Given the description of an element on the screen output the (x, y) to click on. 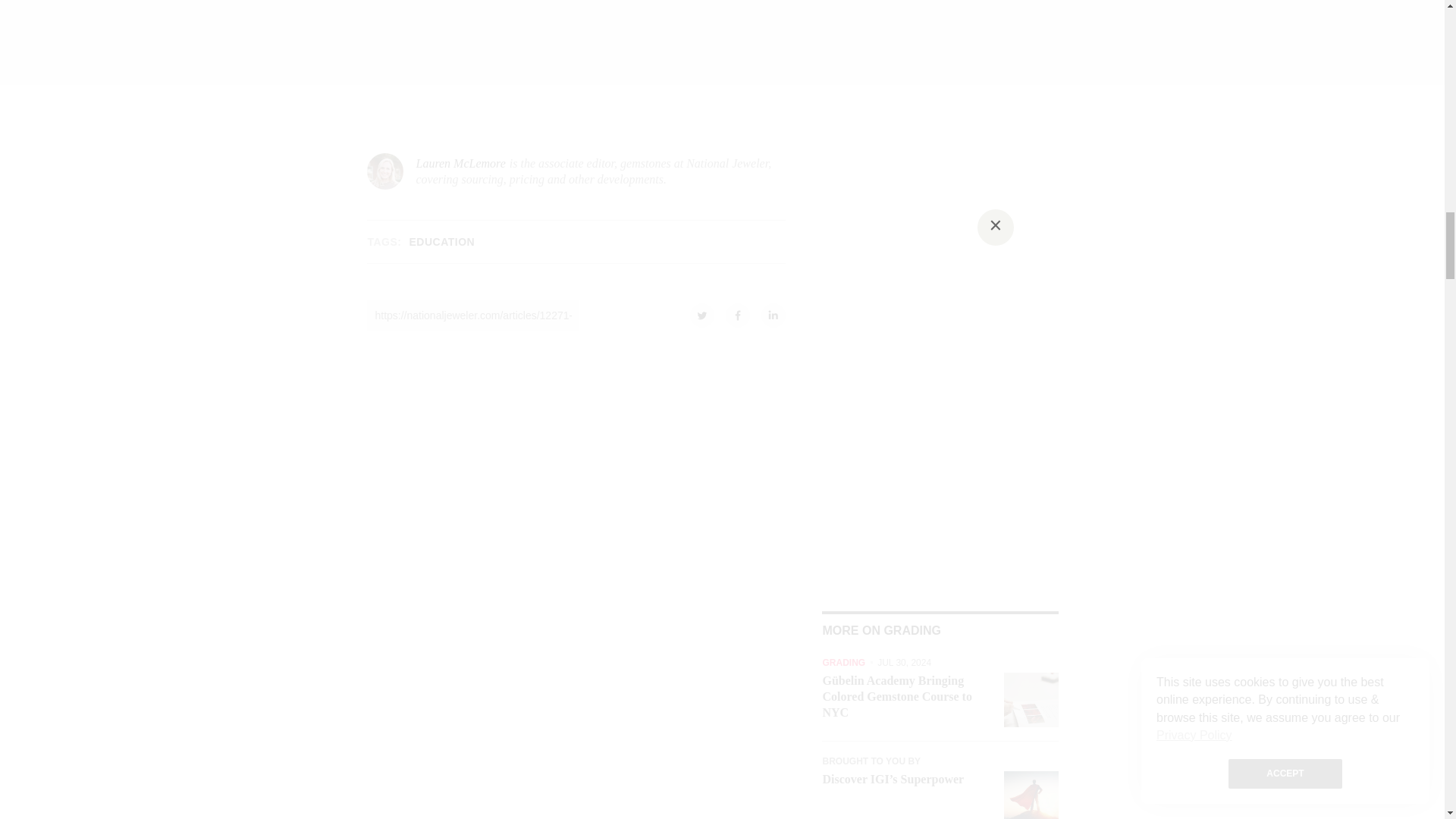
3rd party ad content (722, 31)
